Given the description of an element on the screen output the (x, y) to click on. 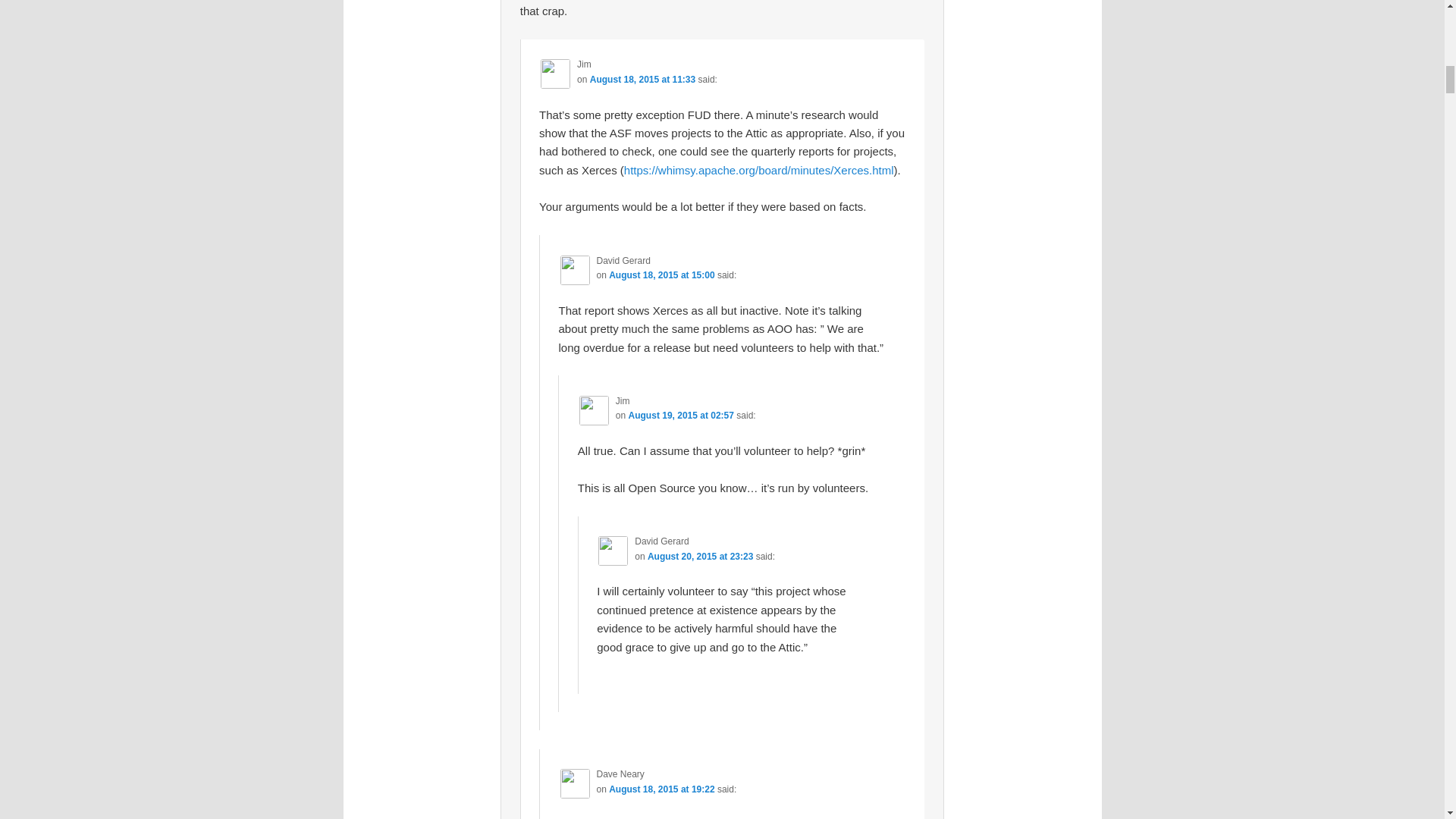
August 18, 2015 at 19:22 (661, 788)
August 20, 2015 at 23:23 (699, 556)
August 18, 2015 at 15:00 (661, 275)
August 18, 2015 at 11:33 (642, 79)
August 19, 2015 at 02:57 (680, 415)
